Given the description of an element on the screen output the (x, y) to click on. 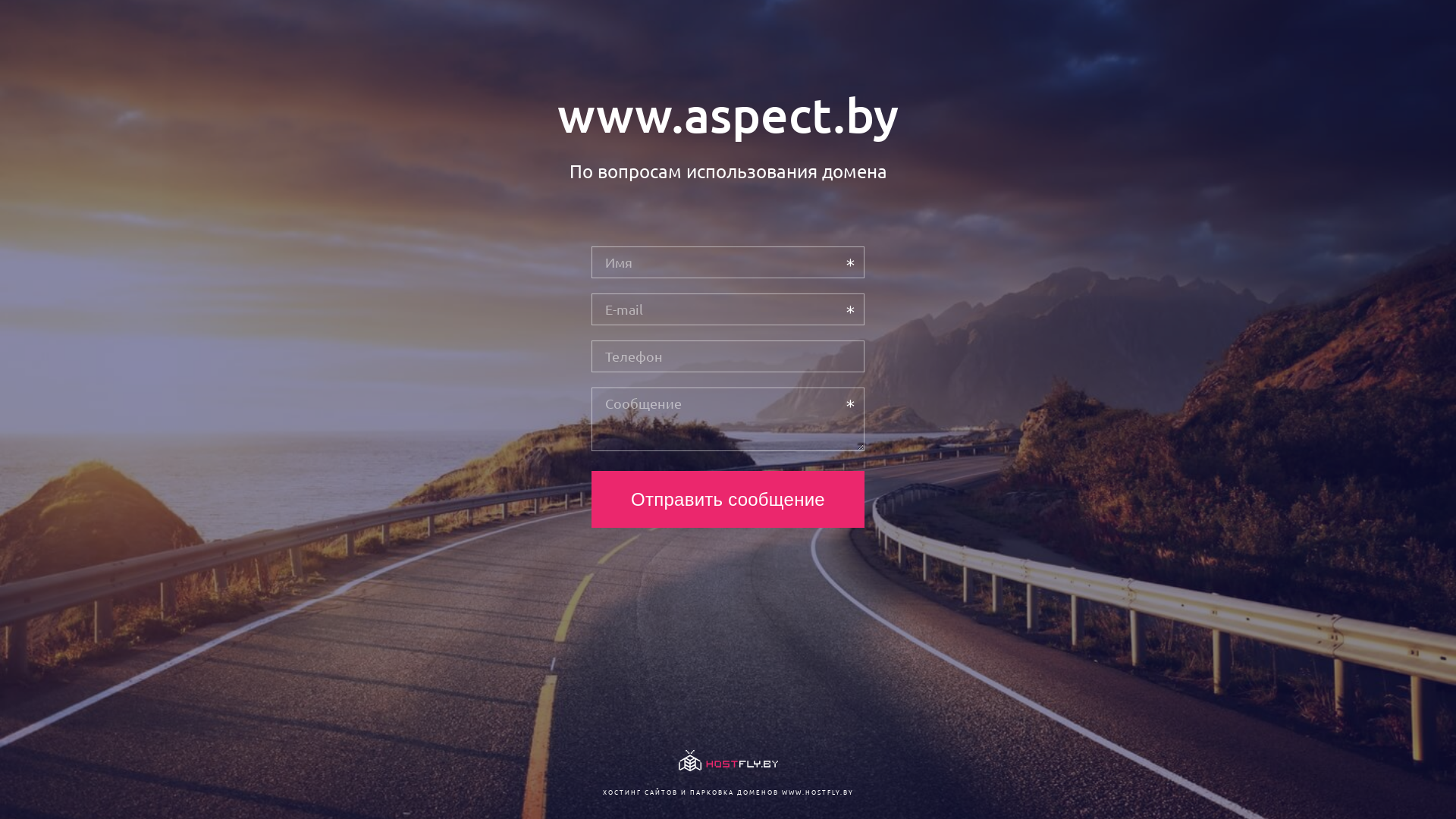
WWW.HOSTFLY.BY Element type: text (817, 791)
